Given the description of an element on the screen output the (x, y) to click on. 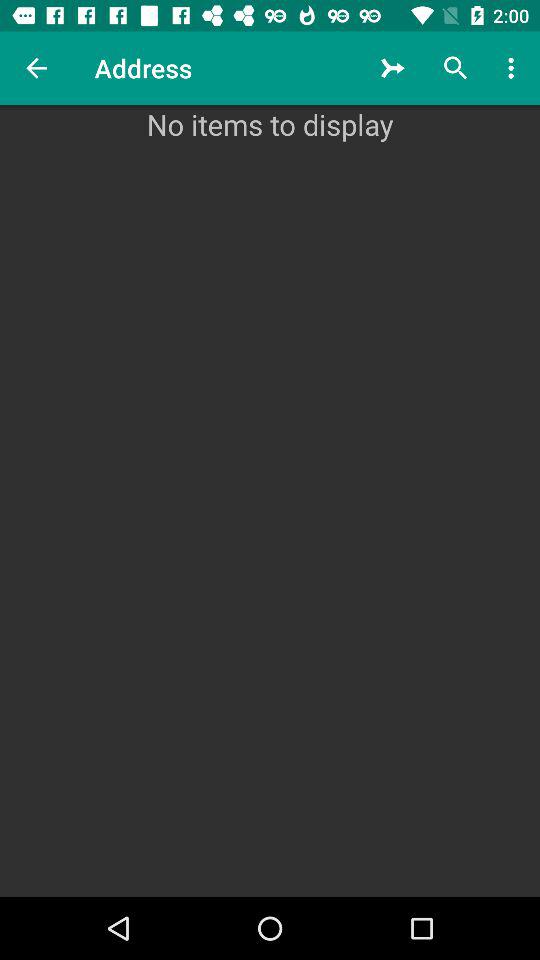
open the icon above no items to icon (455, 67)
